Given the description of an element on the screen output the (x, y) to click on. 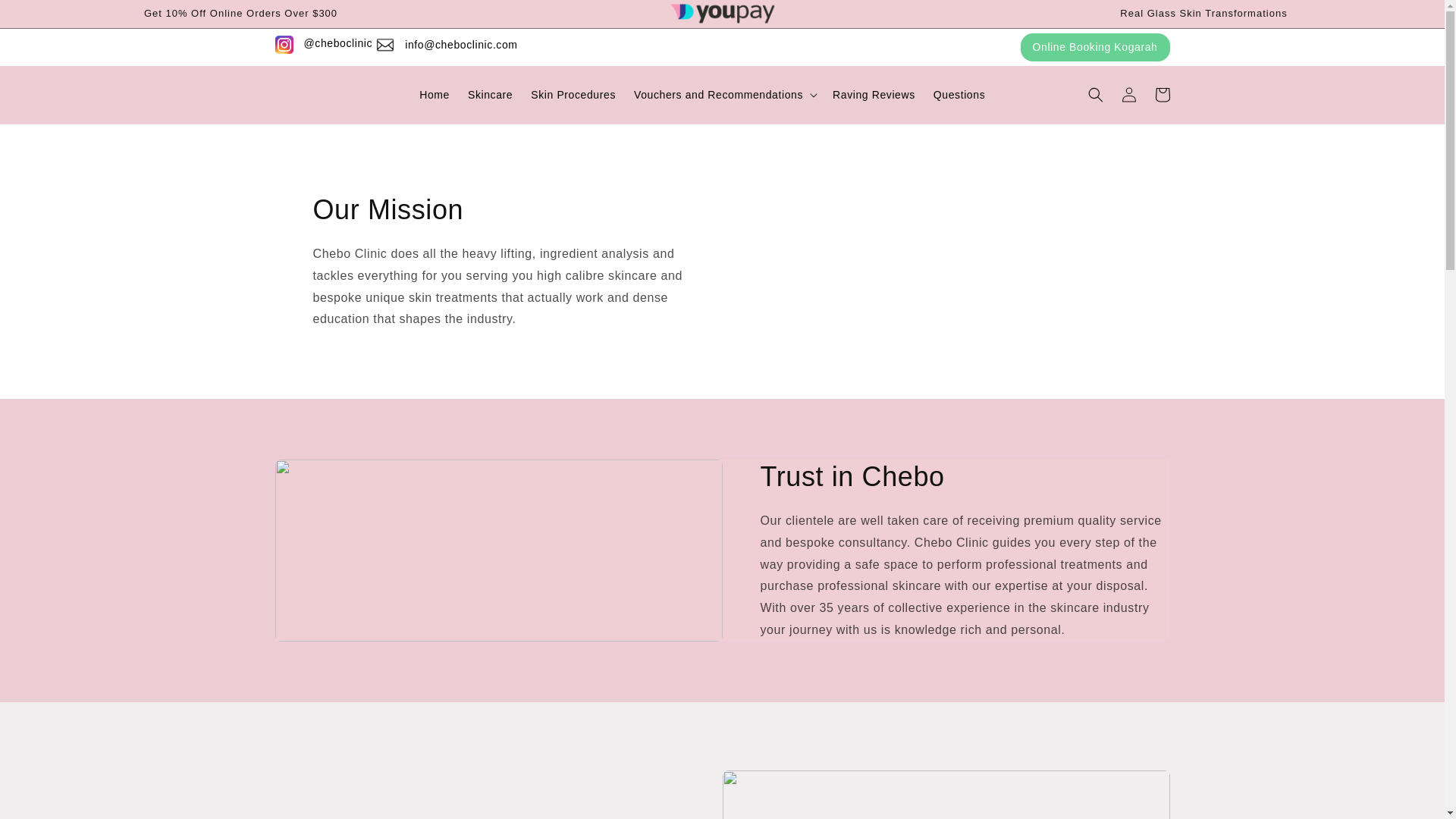
Skip to content (45, 16)
Online Booking Kogarah (1095, 47)
Skincare (489, 94)
Cart (1160, 94)
Raving Reviews (874, 94)
Skin Procedures (572, 94)
Log in (1128, 94)
Questions (959, 94)
Home (434, 94)
